Given the description of an element on the screen output the (x, y) to click on. 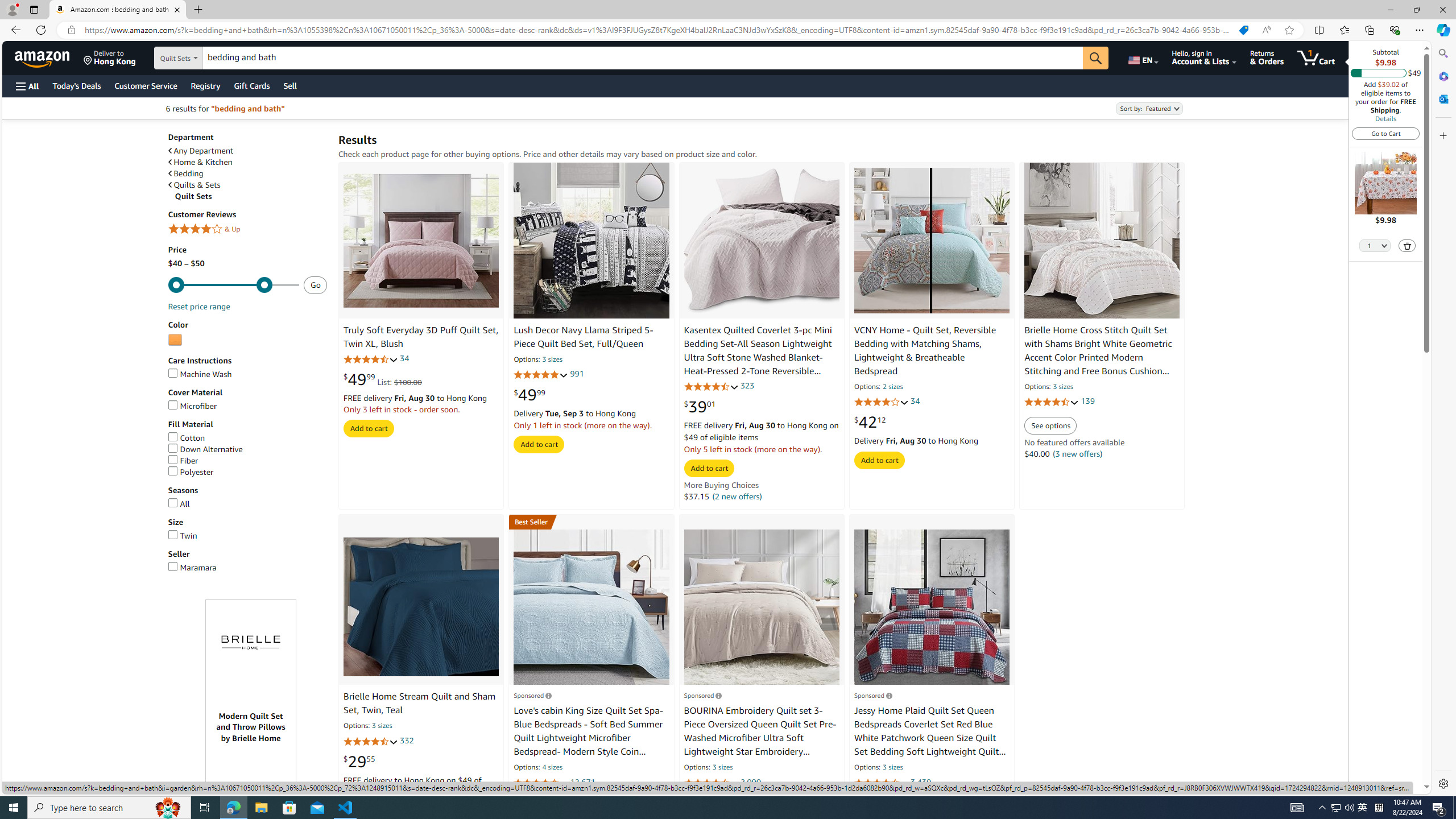
Minimum (233, 285)
Sort by: (1148, 108)
Quilt Sets (250, 196)
4 Stars & Up& Up (247, 229)
4 Stars & Up (247, 229)
Shopping in Microsoft Edge (1243, 29)
Customer Service (145, 85)
Bedding (247, 173)
Reset price range (198, 306)
Add to cart (879, 459)
